Given the description of an element on the screen output the (x, y) to click on. 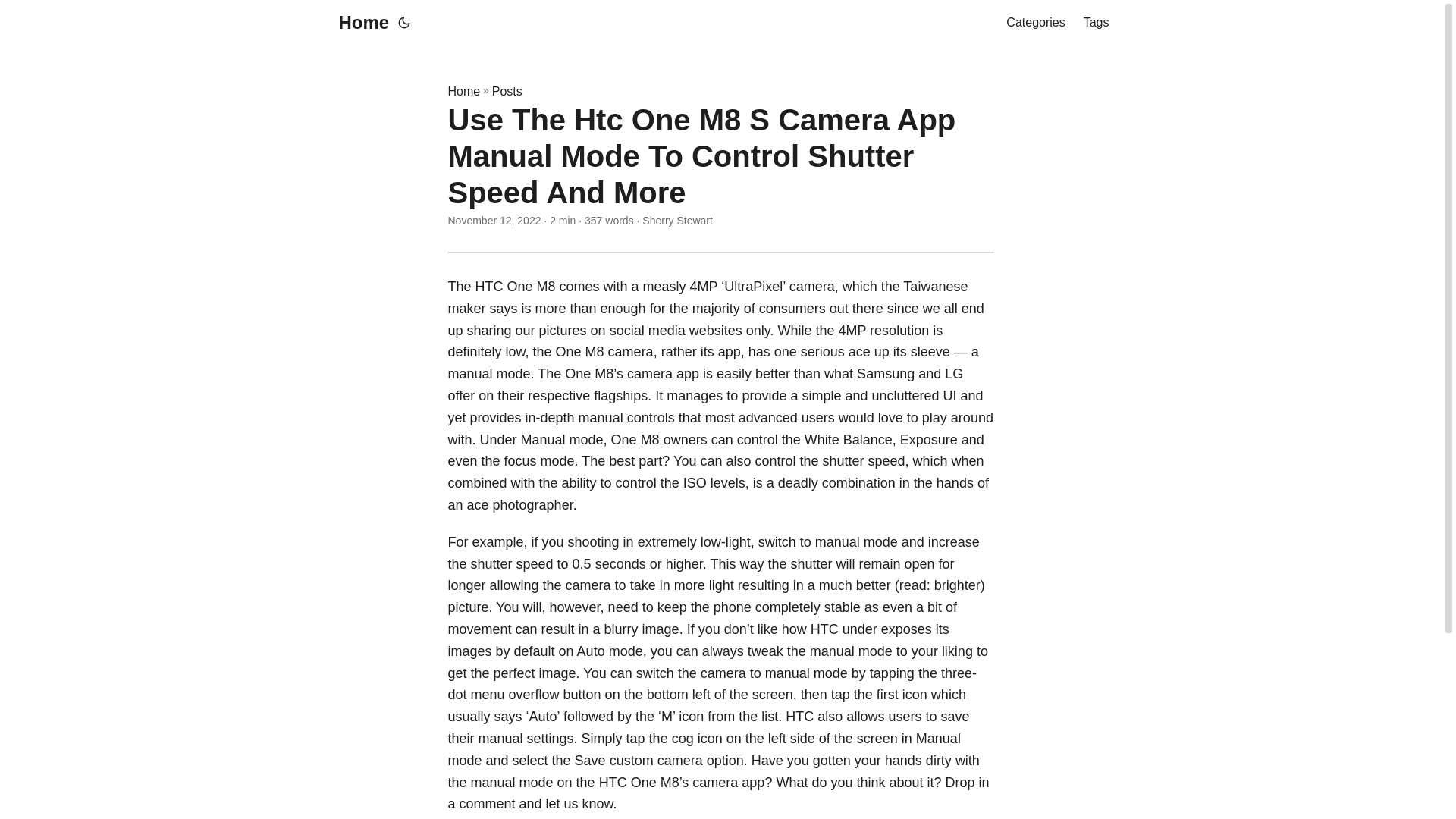
Posts (507, 91)
Categories (1035, 22)
Categories (1035, 22)
Home (463, 91)
Home (359, 22)
